Given the description of an element on the screen output the (x, y) to click on. 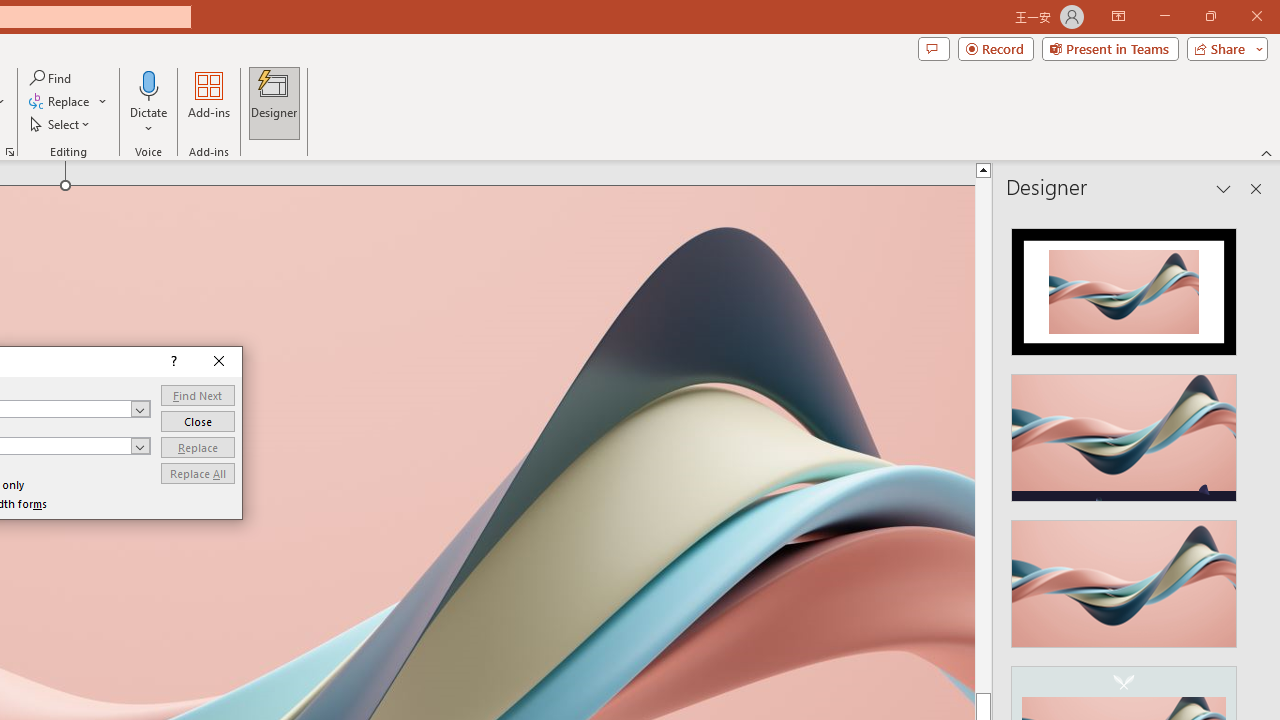
Replace (197, 447)
Recommended Design: Design Idea (1124, 286)
Replace All (197, 473)
